Given the description of an element on the screen output the (x, y) to click on. 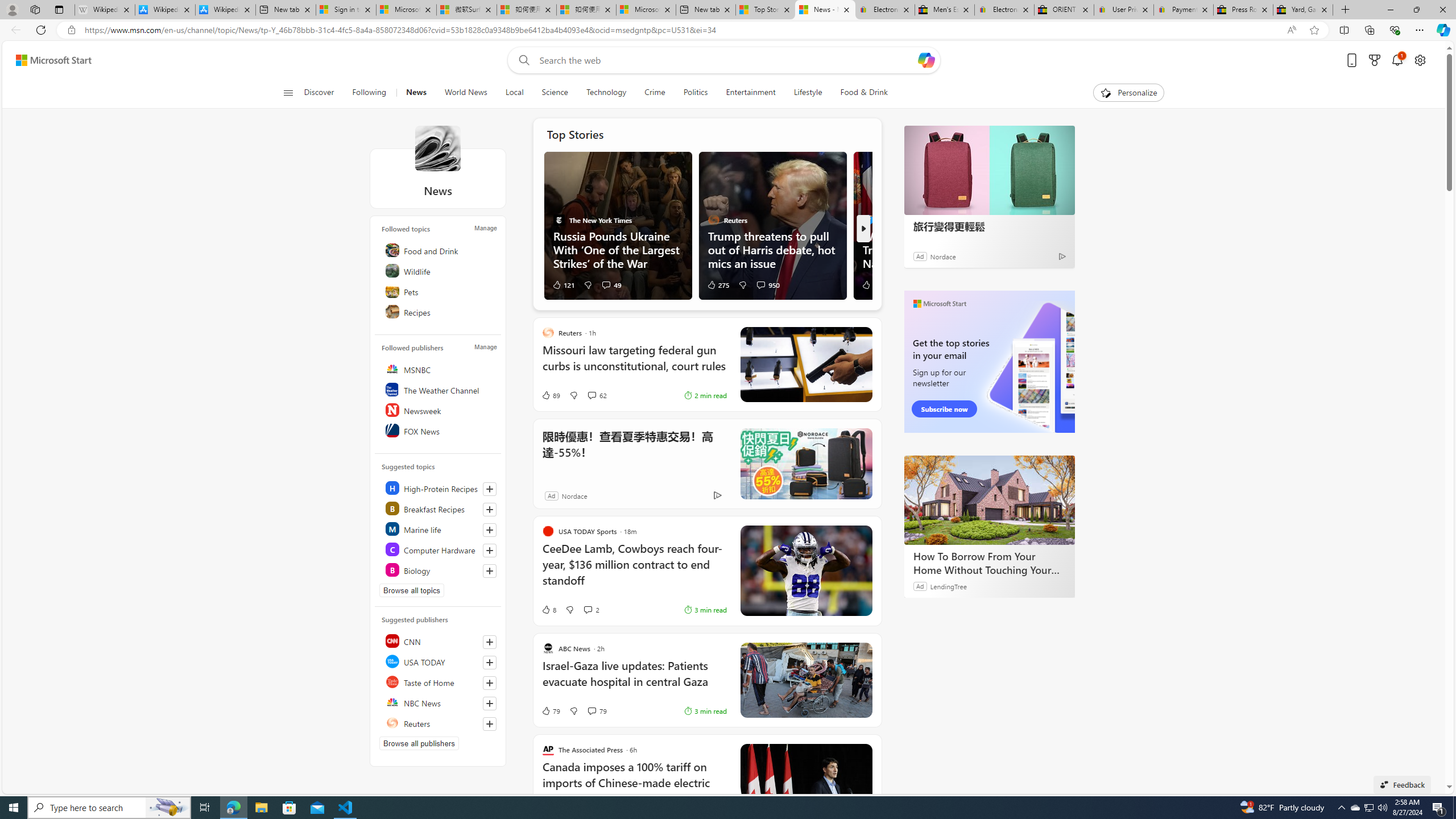
LendingTree (948, 586)
